Given the description of an element on the screen output the (x, y) to click on. 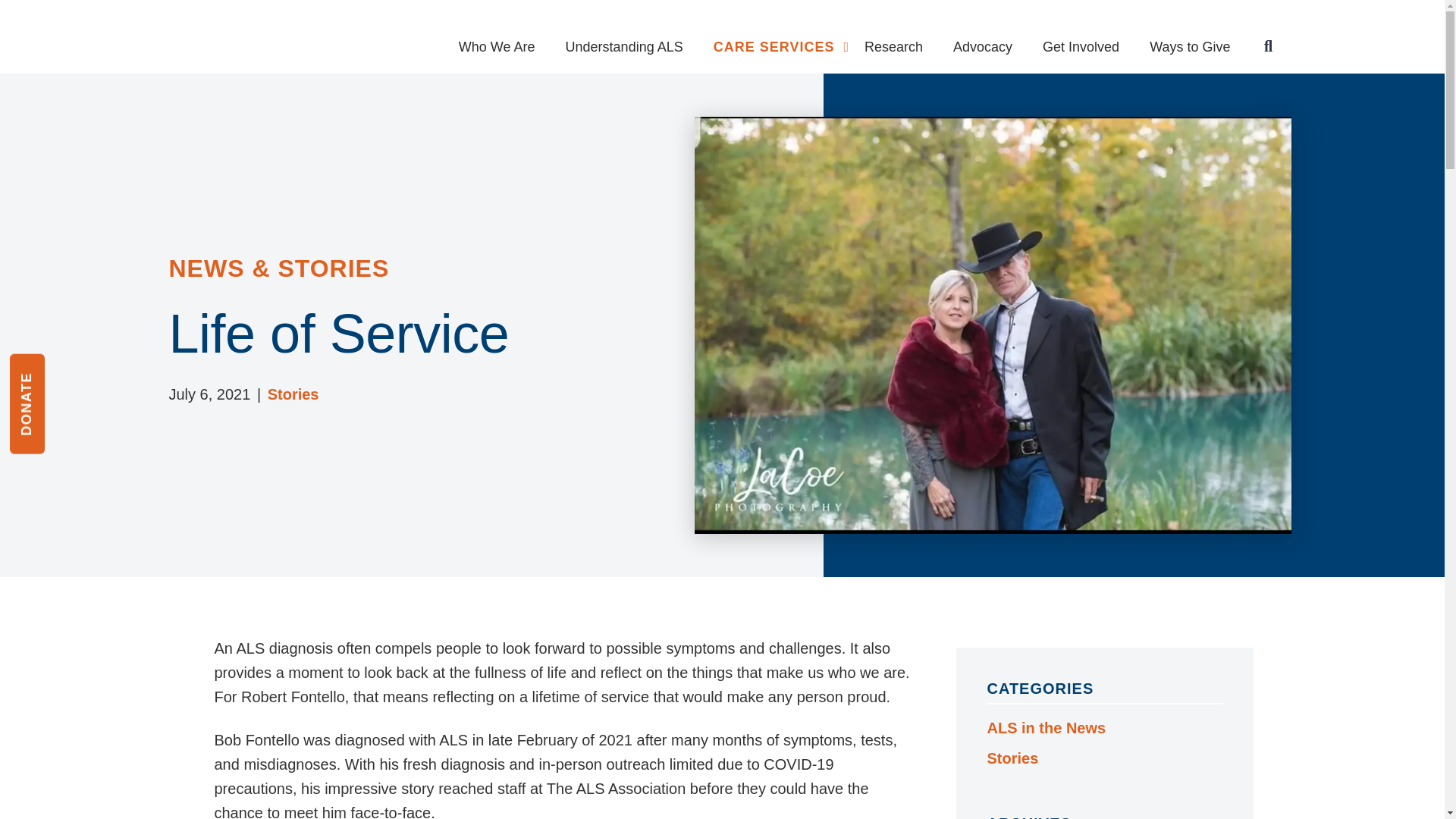
Who We Are (497, 39)
CARE SERVICES (780, 33)
Research (892, 39)
Understanding ALS (624, 39)
Advocacy (982, 39)
